Given the description of an element on the screen output the (x, y) to click on. 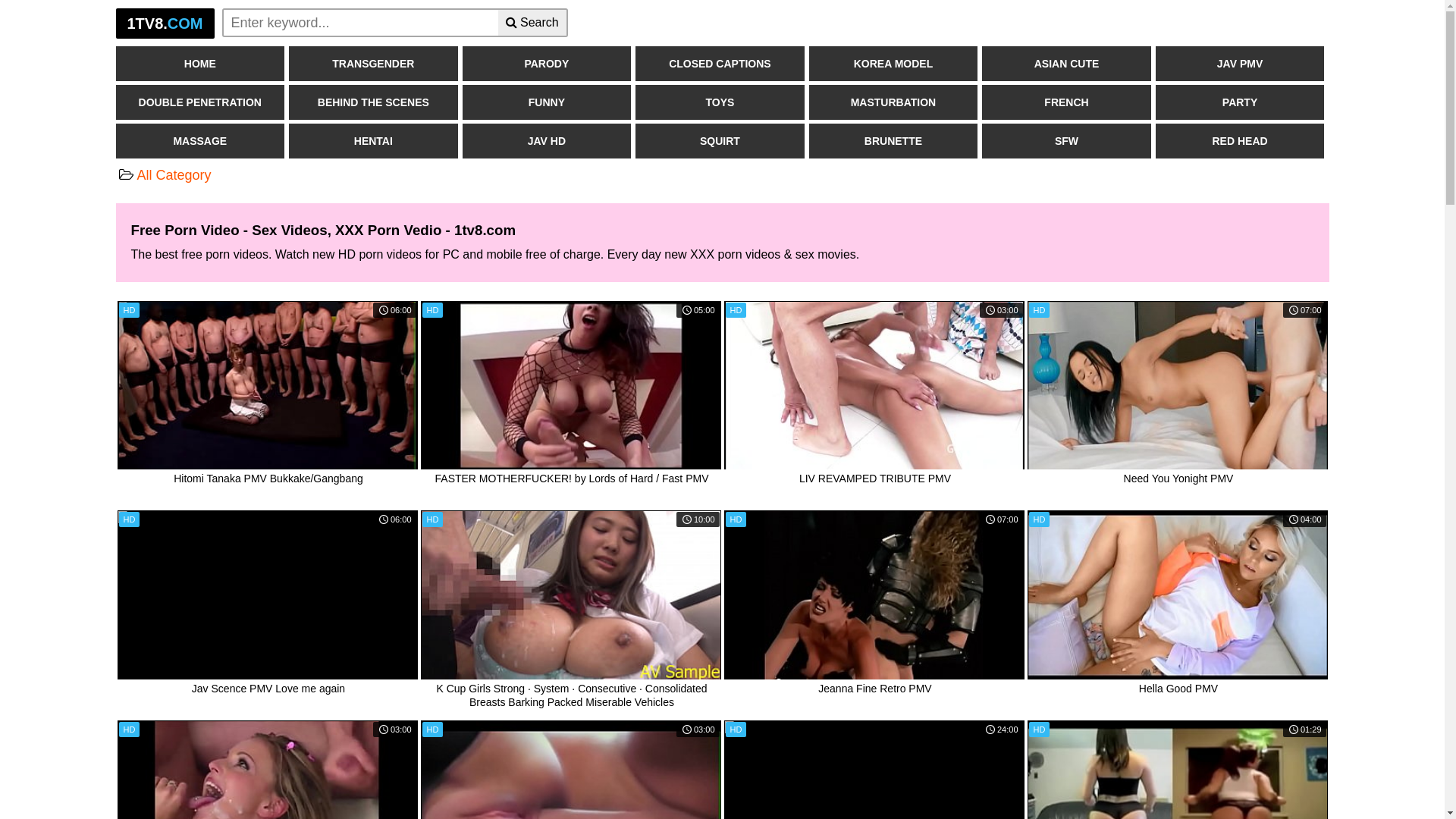
MASSAGE Element type: text (199, 140)
HD
06:00 Element type: text (266, 594)
HD
10:00 Element type: text (570, 594)
LIV REVAMPED TRIBUTE PMV Element type: text (875, 478)
BRUNETTE Element type: text (893, 140)
KOREA MODEL Element type: text (893, 63)
TRANSGENDER Element type: text (373, 63)
Need You Yonight PMV Element type: text (1178, 478)
TOYS Element type: text (719, 101)
LIV REVAMPED TRIBUTE PMV Element type: hover (873, 385)
Jeanna Fine Retro PMV Element type: hover (873, 595)
RED HEAD Element type: text (1239, 140)
MASTURBATION Element type: text (893, 101)
Need You Yonight PMV Element type: hover (1176, 385)
Jeanna Fine Retro PMV Element type: text (875, 688)
JAV PMV Element type: text (1239, 63)
BEHIND THE SCENES Element type: text (373, 101)
HD
07:00 Element type: text (873, 594)
SQUIRT Element type: text (719, 140)
CLOSED CAPTIONS Element type: text (719, 63)
Hella Good PMV Element type: hover (1176, 595)
PARODY Element type: text (546, 63)
Jav Scence PMV Love me again Element type: text (268, 688)
HD
03:00 Element type: text (873, 385)
PARTY Element type: text (1239, 101)
JAV HD Element type: text (546, 140)
HD
07:00 Element type: text (1176, 385)
FUNNY Element type: text (546, 101)
Slut Transformation Gender Swap PMV Element type: hover (873, 727)
FASTER MOTHERFUCKER! by Lords of Hard / Fast PMV Element type: text (572, 478)
Search Element type: text (532, 22)
Jav Scence  PMV   Love me again Element type: hover (266, 517)
All Category Element type: text (174, 174)
HENTAI Element type: text (373, 140)
SFW Element type: text (1066, 140)
FASTER MOTHERFUCKER! by Lords of Hard / Fast PMV Element type: hover (570, 385)
DOUBLE PENETRATION Element type: text (199, 101)
HD
05:00 Element type: text (570, 385)
Hitomi Tanaka PMV Bukkake/Gangbang Element type: text (268, 478)
HOME Element type: text (199, 63)
HD
06:00 Element type: text (266, 385)
Hitomi Tanaka PMV Bukkake/Gangbang Element type: hover (266, 385)
ASIAN CUTE Element type: text (1066, 63)
HD
04:00 Element type: text (1176, 594)
FRENCH Element type: text (1066, 101)
Hella Good PMV Element type: text (1178, 688)
